Given the description of an element on the screen output the (x, y) to click on. 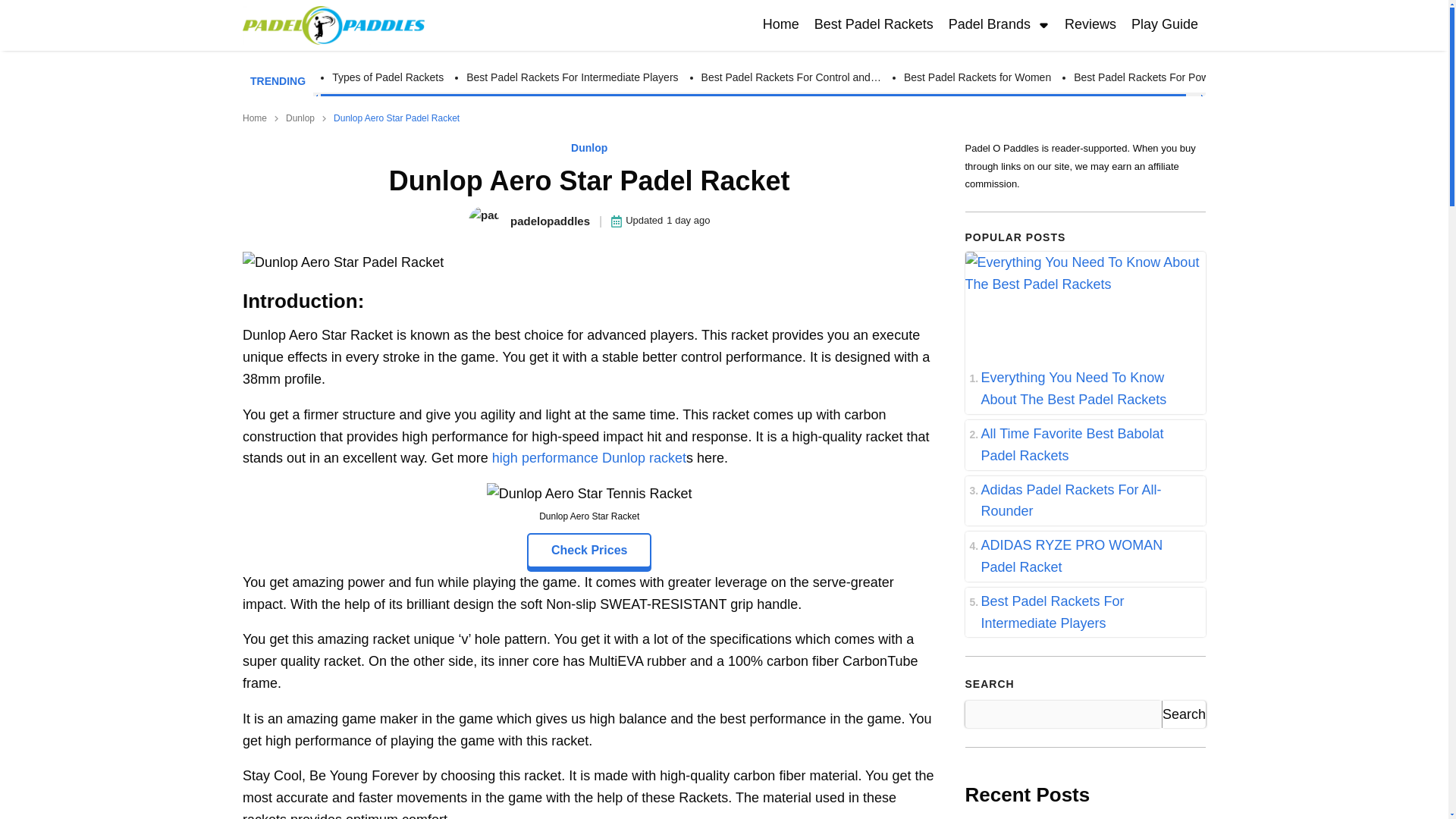
Best Padel Rackets For Intermediate Players (1084, 613)
Everything You Need To Know About The Best Padel Rackets (1084, 388)
Dunlop (588, 147)
Reviews (1090, 25)
Types of Padel Rackets (387, 77)
Home (780, 25)
Dunlop (299, 118)
Best Padel Rackets for Women (977, 77)
Best Padel Rackets For Intermediate Players (571, 77)
Best Padel Rackets For Power (1146, 77)
padelopaddles (528, 221)
ADIDAS RYZE PRO WOMAN Padel Racket (1084, 556)
high performance Dunlop racket (588, 458)
All Time Favorite Best Babolat Padel Rackets (1084, 445)
Check Prices (589, 550)
